Given the description of an element on the screen output the (x, y) to click on. 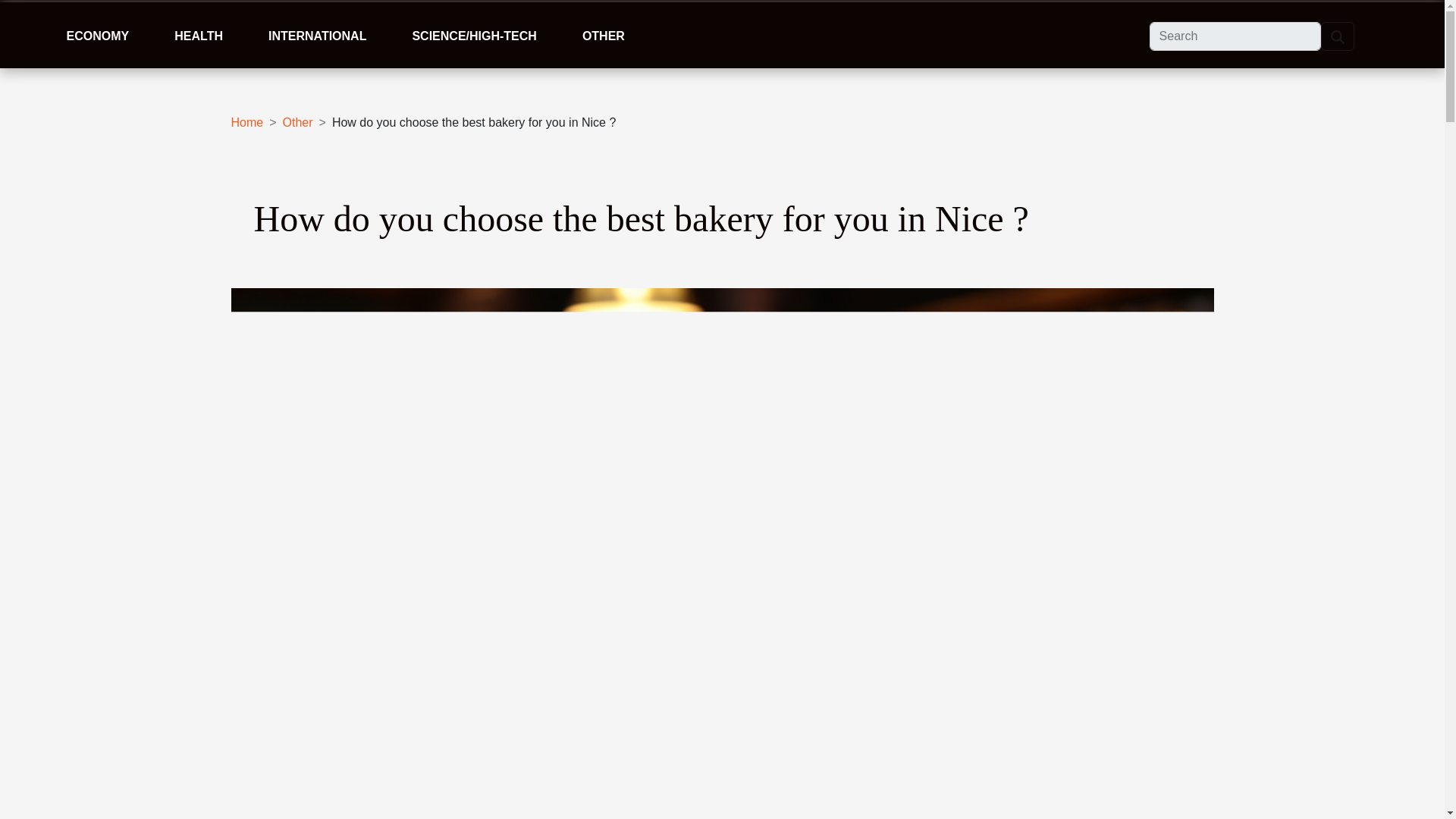
Home (246, 122)
ECONOMY (97, 35)
Other (297, 122)
OTHER (603, 35)
Other (297, 122)
INTERNATIONAL (317, 35)
HEALTH (198, 35)
